Given the description of an element on the screen output the (x, y) to click on. 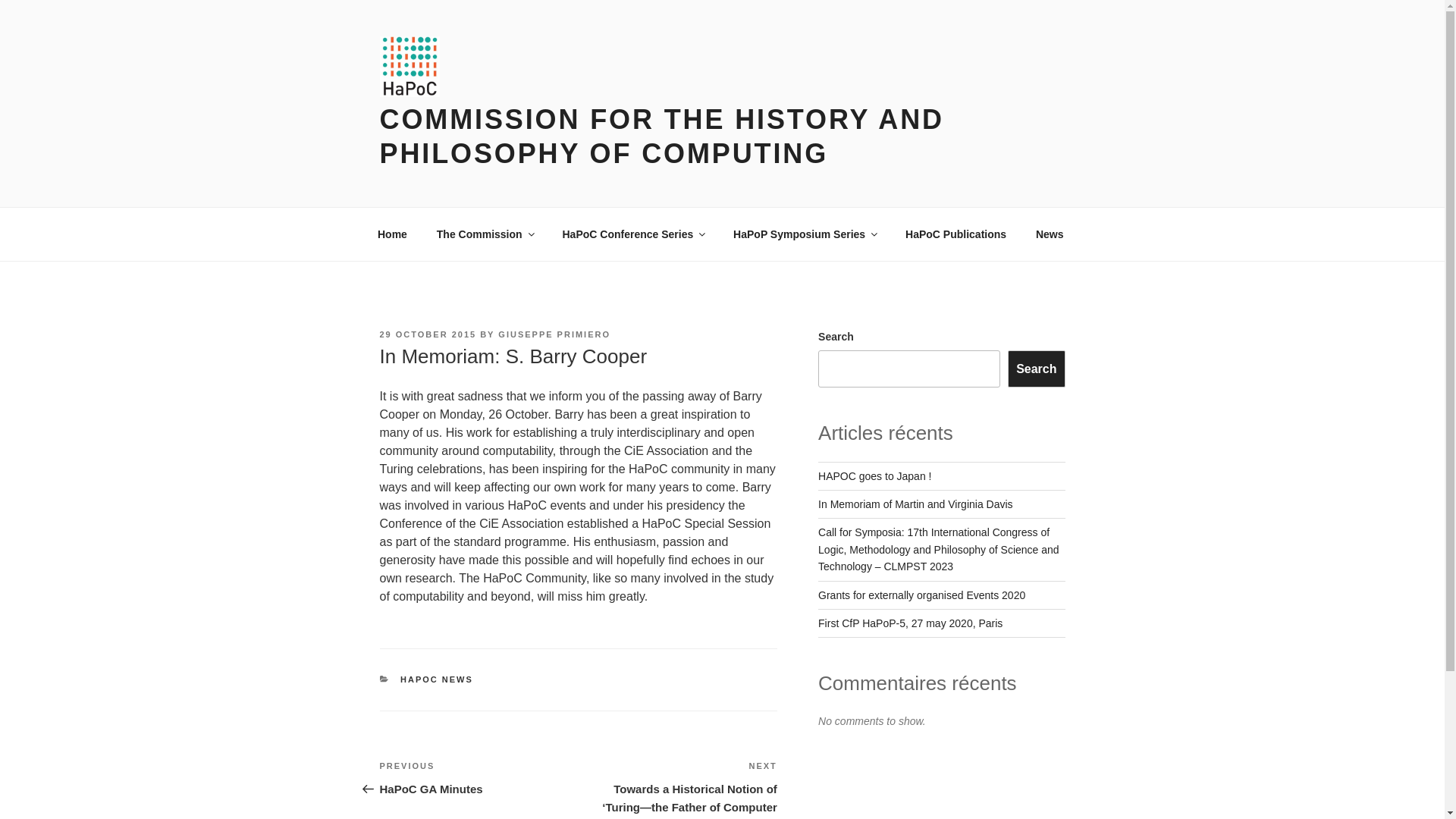
Search (1035, 368)
HaPoP Symposium Series (804, 233)
Home (392, 233)
HaPoC Publications (956, 233)
HAPOC goes to Japan ! (478, 778)
GIUSEPPE PRIMIERO (874, 476)
HaPoC Conference Series (553, 334)
News (632, 233)
In Memoriam of Martin and Virginia Davis (1049, 233)
HAPOC NEWS (915, 503)
29 OCTOBER 2015 (436, 678)
The Commission (427, 334)
COMMISSION FOR THE HISTORY AND PHILOSOPHY OF COMPUTING (484, 233)
